Given the description of an element on the screen output the (x, y) to click on. 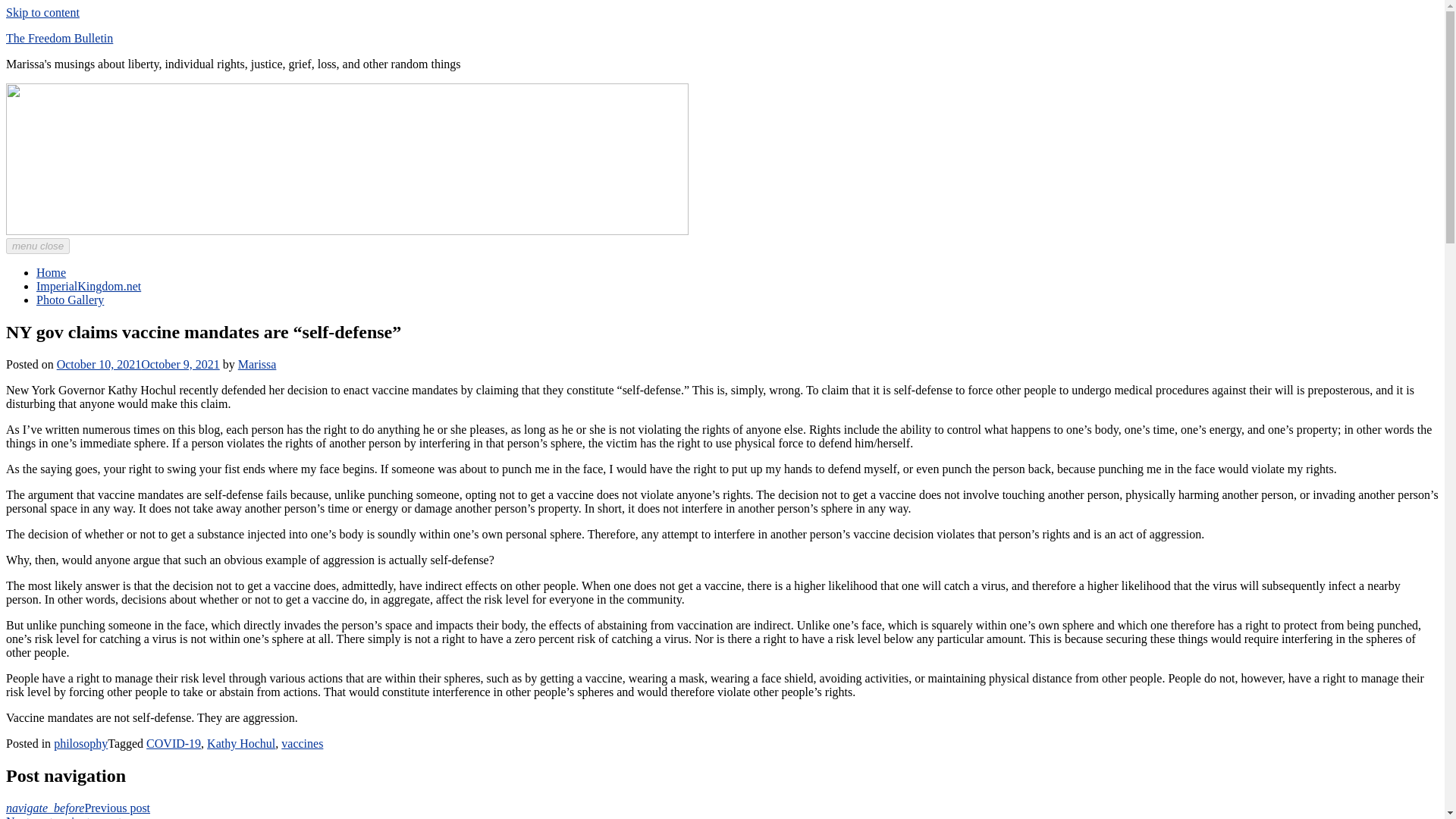
ImperialKingdom.net (88, 286)
COVID-19 (173, 743)
Marissa (257, 364)
The Freedom Bulletin (59, 38)
Kathy Hochul (240, 743)
philosophy (80, 743)
Photo Gallery (69, 299)
Home (50, 272)
menu close (37, 245)
October 10, 2021October 9, 2021 (137, 364)
